Given the description of an element on the screen output the (x, y) to click on. 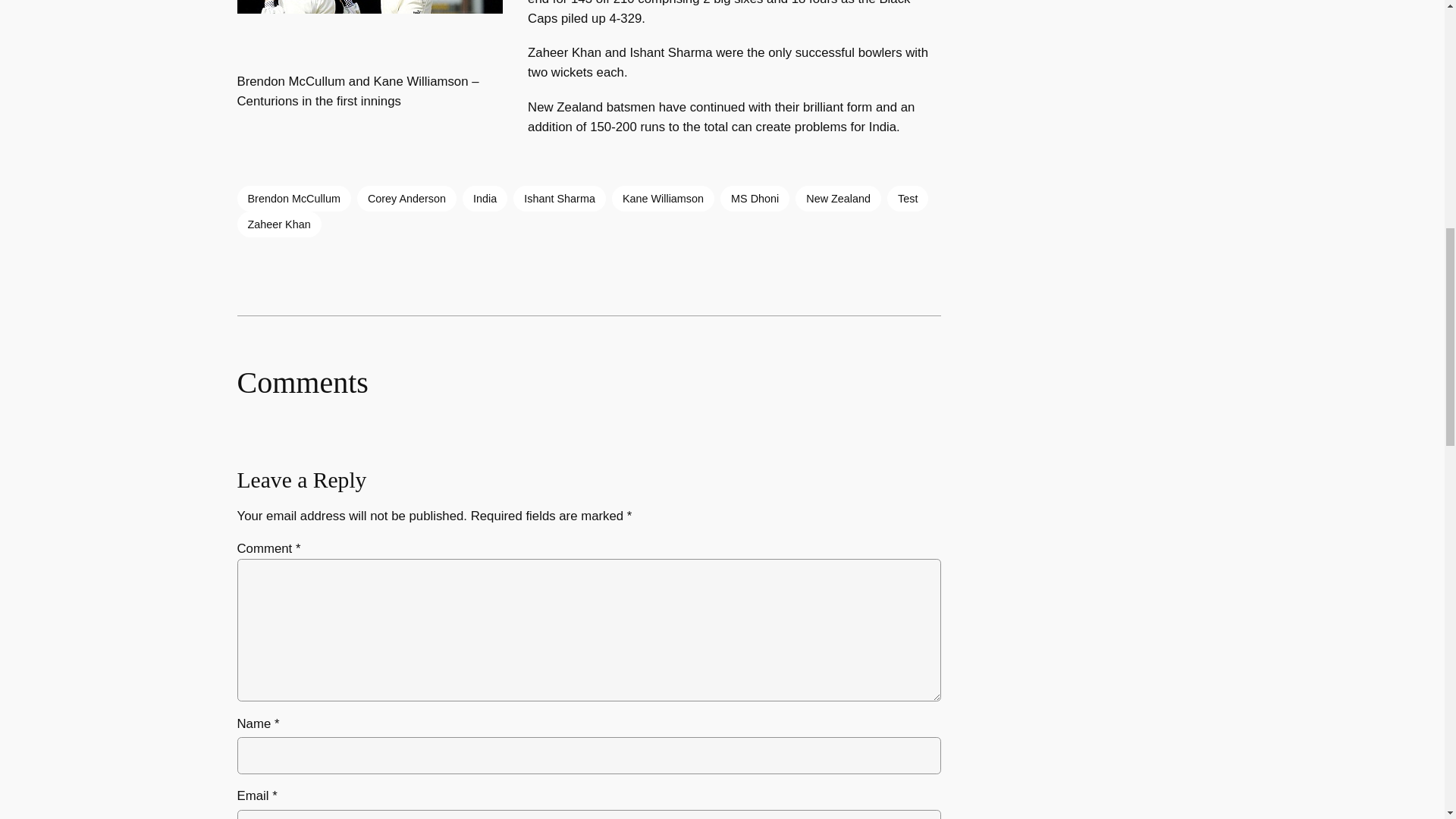
MS Dhoni (754, 198)
Test (907, 198)
Brendon McCullum (292, 198)
Kane Williamson (662, 198)
Zaheer Khan (277, 224)
New Zealand (837, 198)
Ishant Sharma (559, 198)
India (484, 198)
Corey Anderson (406, 198)
